Given the description of an element on the screen output the (x, y) to click on. 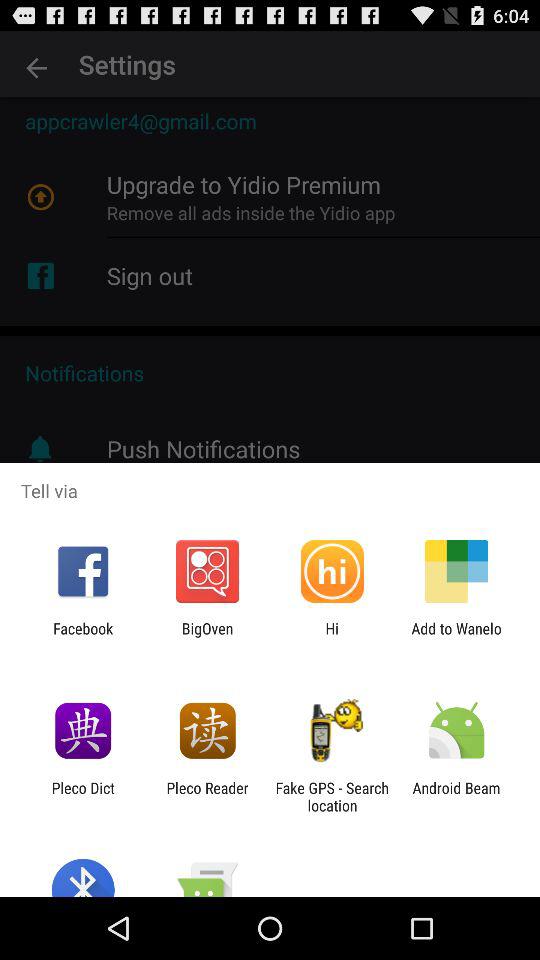
turn on icon to the left of the android beam icon (332, 796)
